Given the description of an element on the screen output the (x, y) to click on. 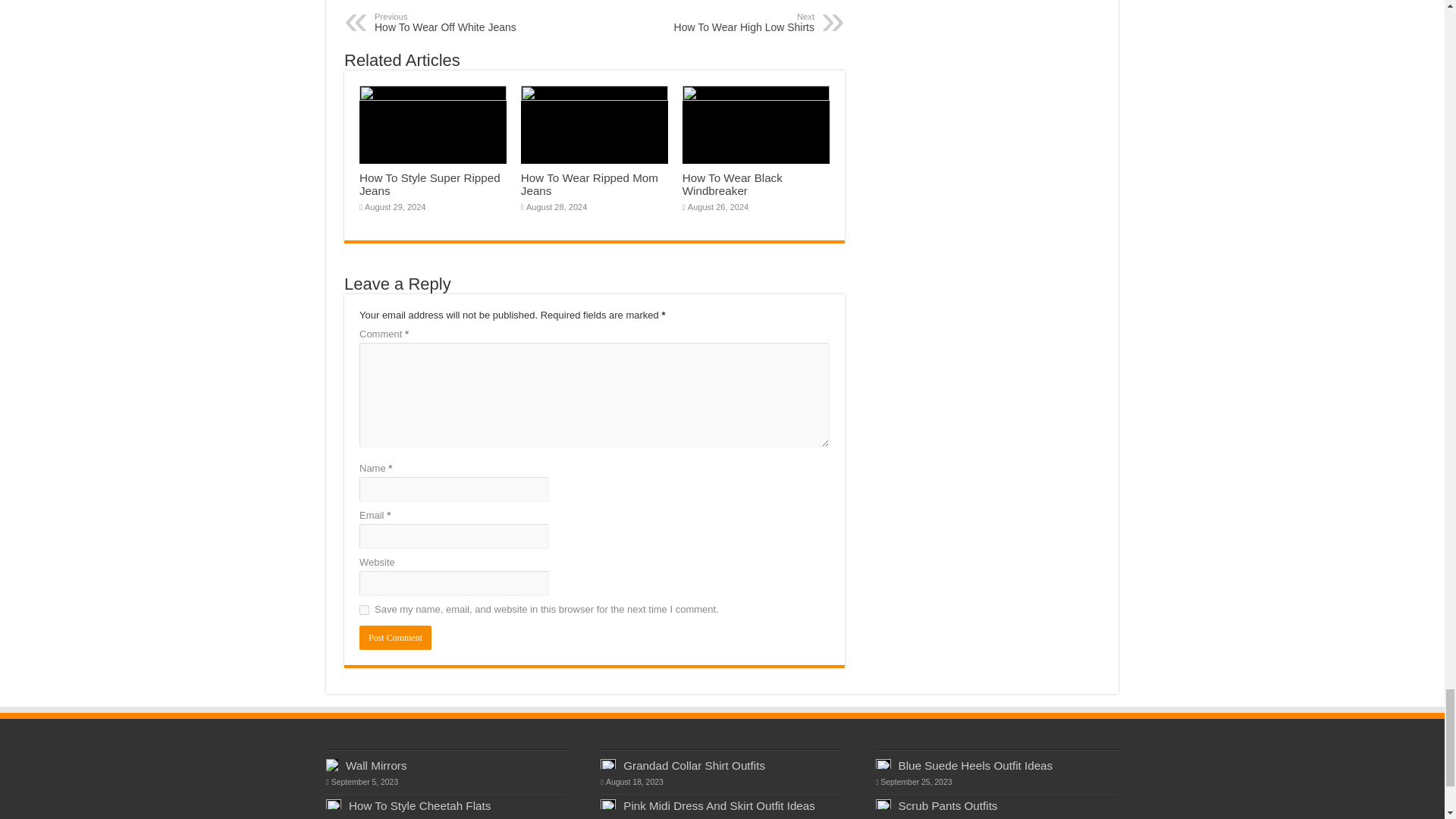
Wall Mirrors (376, 765)
Post Comment (394, 637)
How To Style Cheetah Flats (419, 805)
How To Wear Ripped Mom Jeans (589, 184)
Post Comment (394, 637)
How To Style Super Ripped Jeans (736, 22)
yes (429, 184)
How To Wear Black Windbreaker (364, 610)
